Given the description of an element on the screen output the (x, y) to click on. 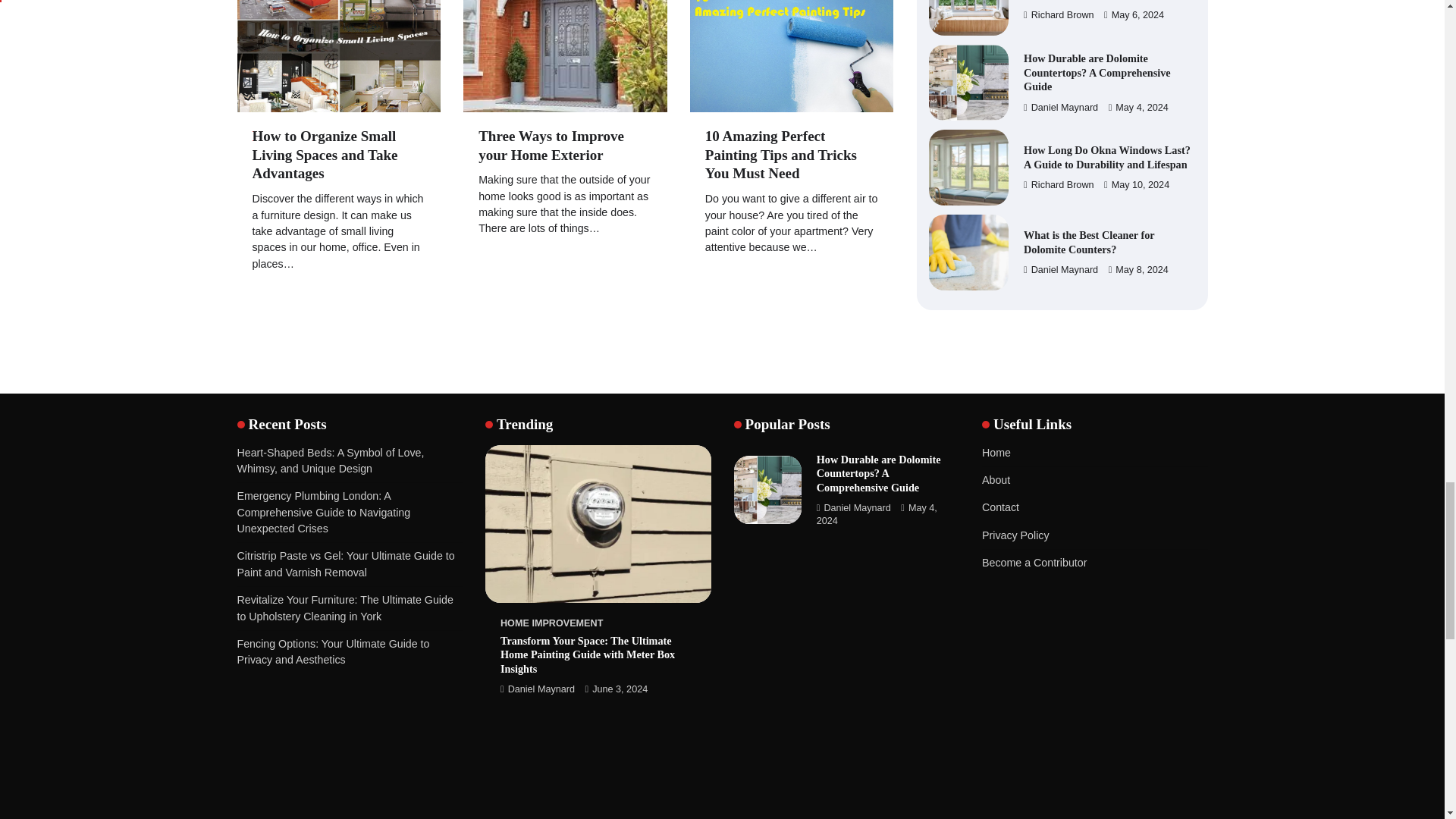
Advertisement (349, 755)
10 Amazing Perfect Painting Tips and Tricks You Must Need (780, 154)
How to Organize Small Living Spaces and Take Advantages (324, 154)
Three Ways to Improve your Home Exterior (551, 144)
